Given the description of an element on the screen output the (x, y) to click on. 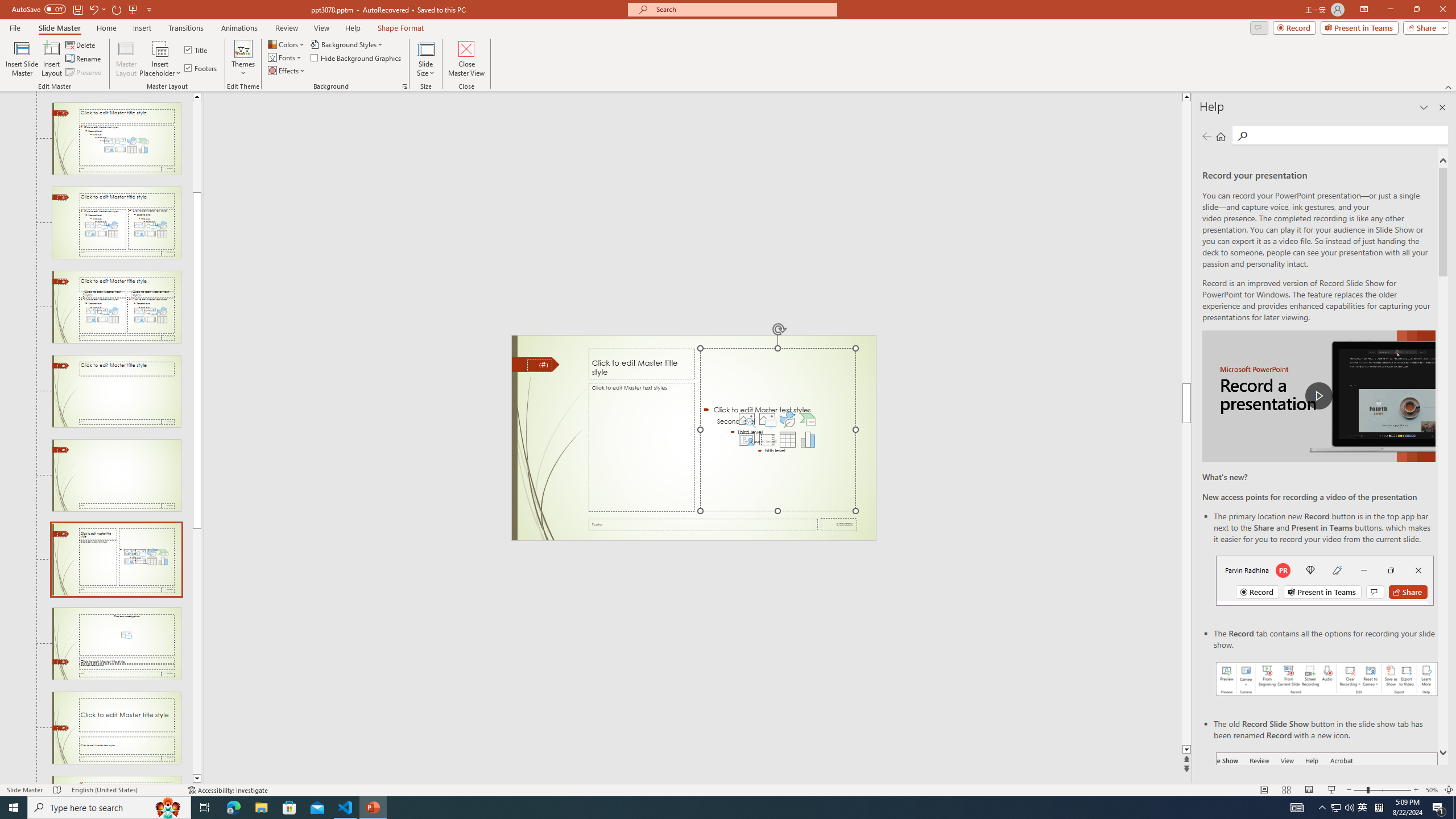
Title TextBox (641, 363)
Insert an Icon (787, 419)
Title (196, 49)
Record your presentations screenshot one (1326, 678)
Insert Placeholder (160, 58)
Date (839, 524)
Close Master View (466, 58)
Slide Comparison Layout: used by no slides (116, 307)
